Given the description of an element on the screen output the (x, y) to click on. 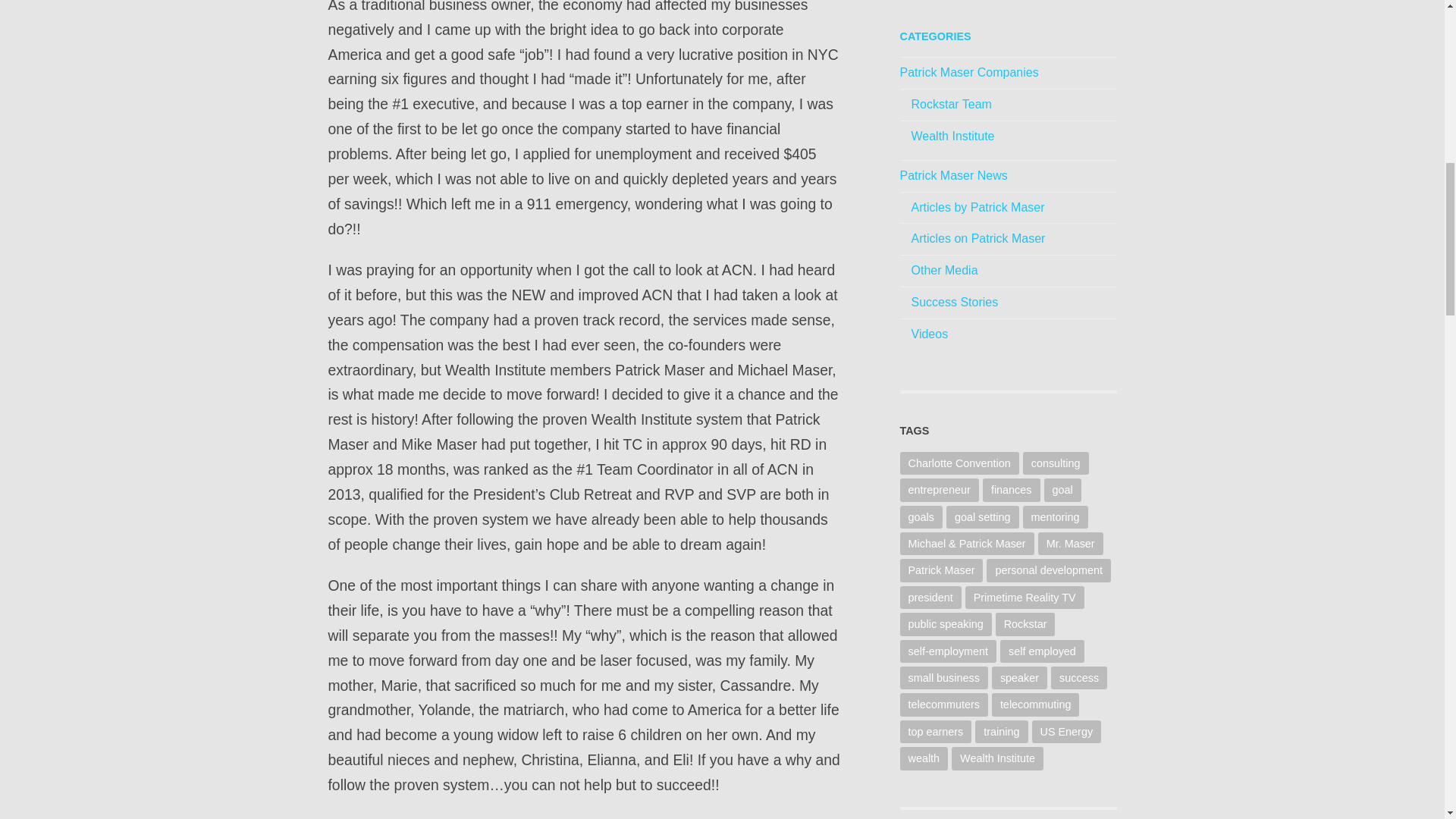
CATEGORIES (935, 36)
